Given the description of an element on the screen output the (x, y) to click on. 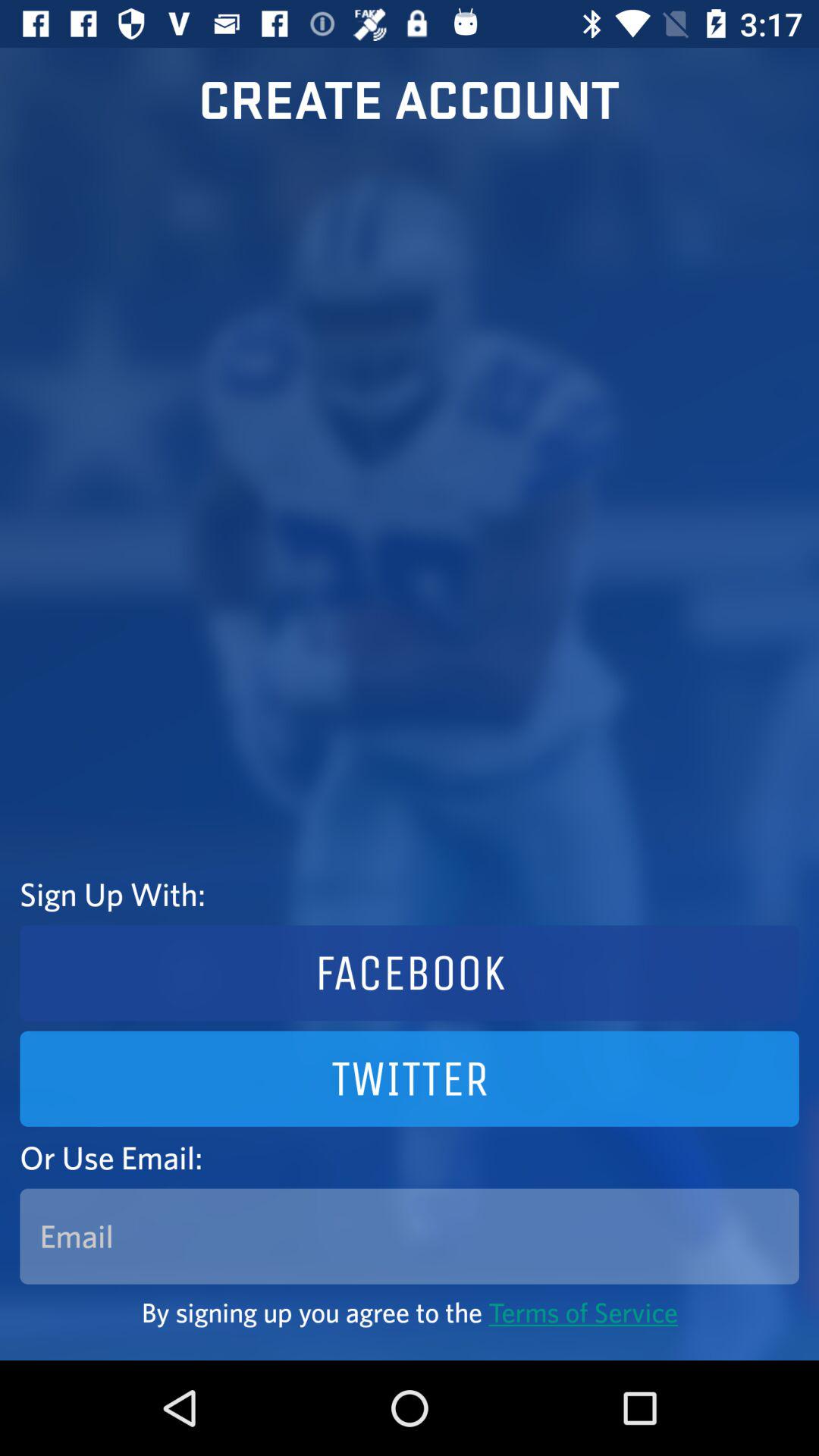
launch item below the email (409, 1312)
